Given the description of an element on the screen output the (x, y) to click on. 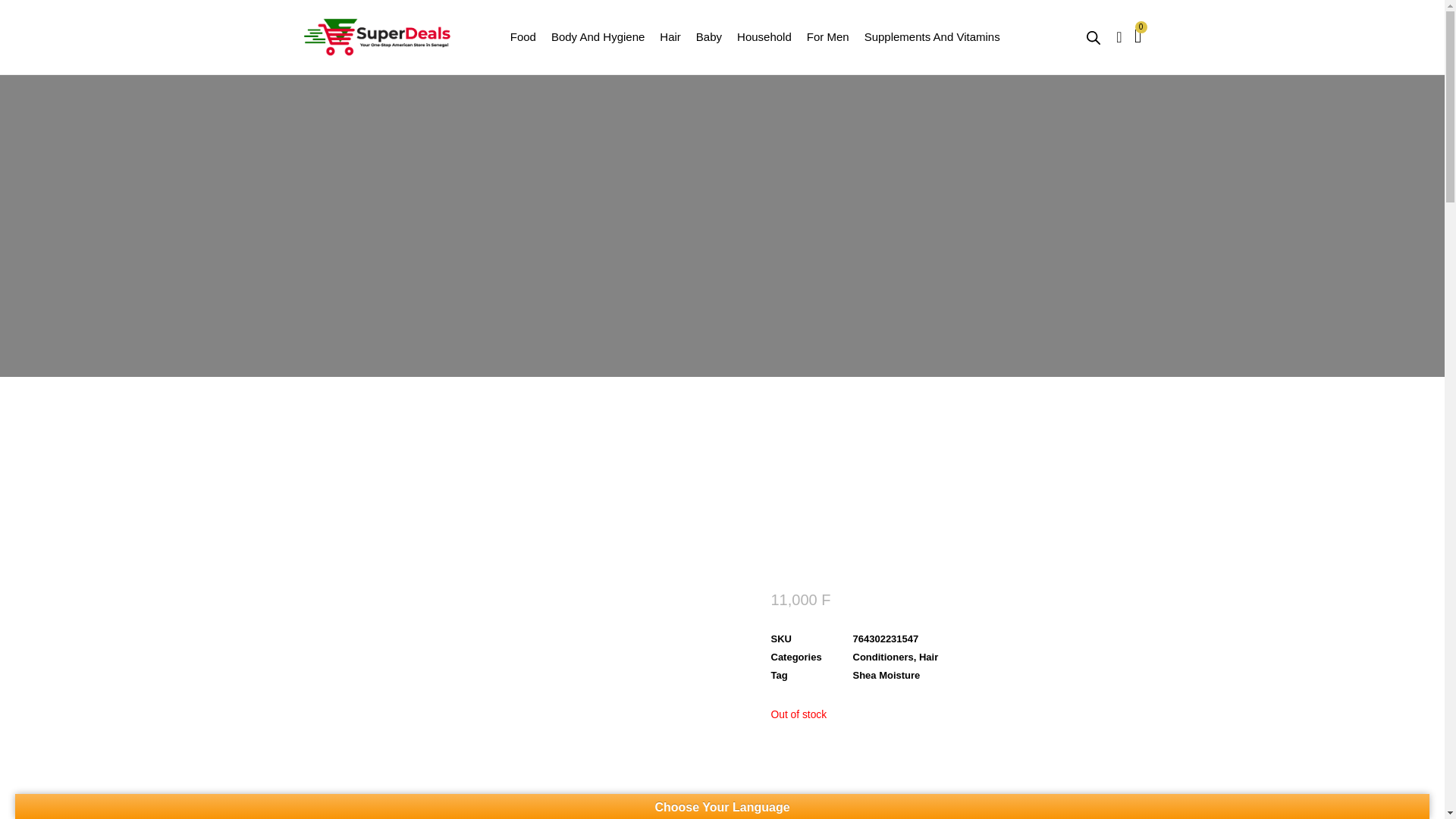
For Men (827, 36)
Body And Hygiene (598, 36)
Baby (708, 36)
Household (764, 36)
Food (523, 36)
Hair (670, 36)
Supplements And Vitamins (932, 36)
